Given the description of an element on the screen output the (x, y) to click on. 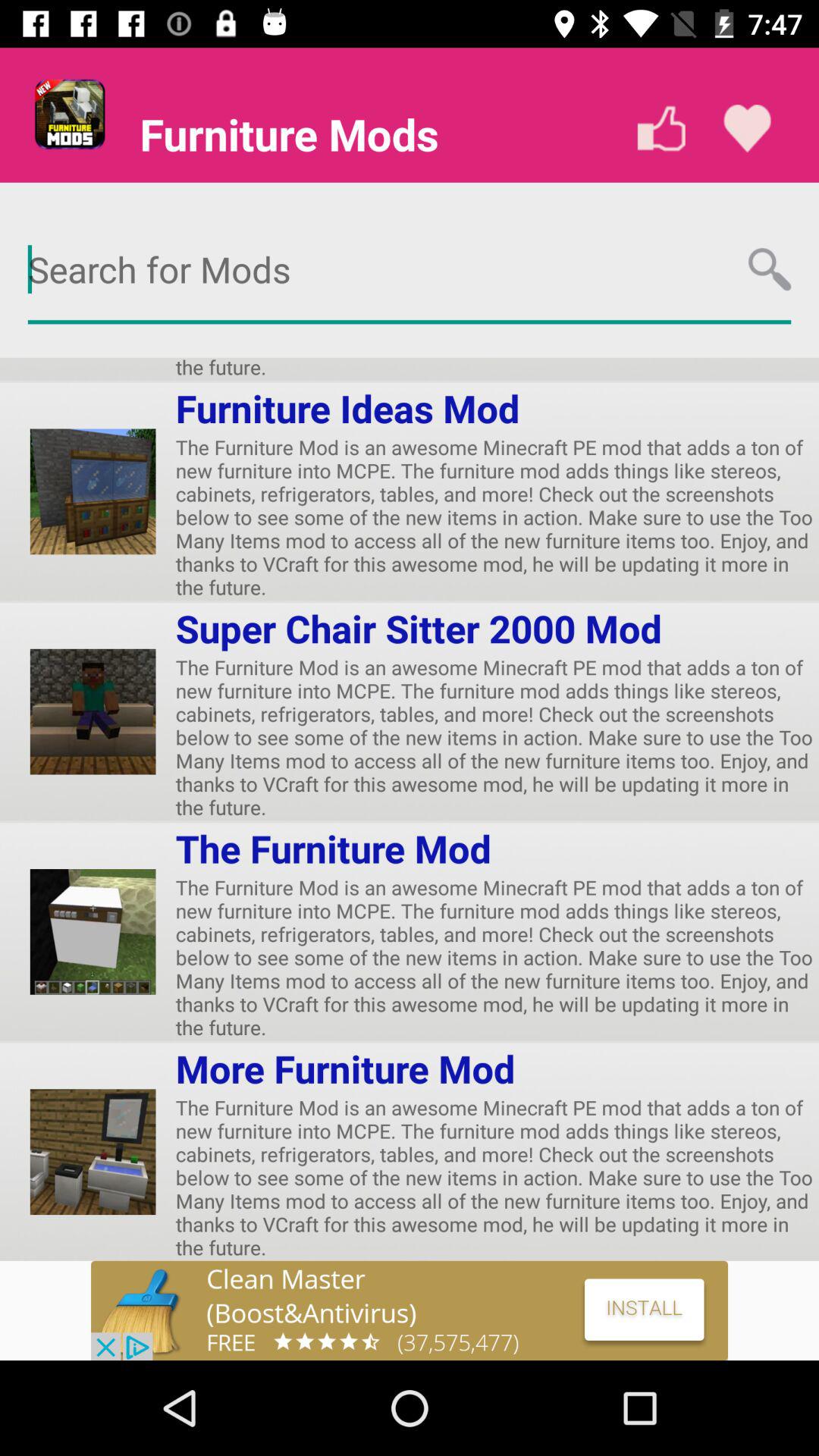
like (661, 128)
